Given the description of an element on the screen output the (x, y) to click on. 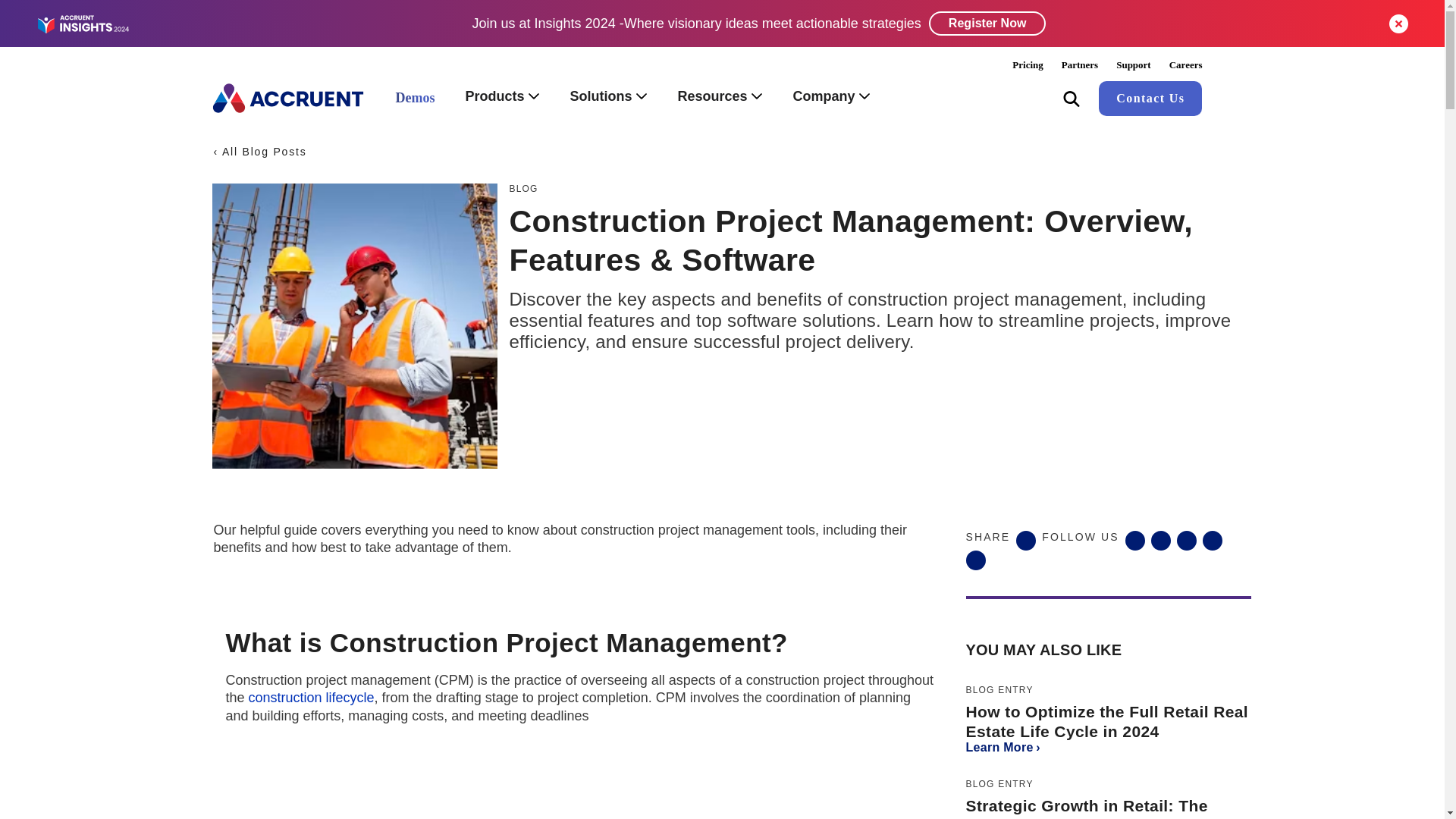
Solutions (608, 98)
Partners (1079, 64)
Register Now (987, 23)
Careers (1185, 64)
Products (501, 98)
Pricing (1027, 64)
Support (1133, 64)
Demos (414, 97)
